Given the description of an element on the screen output the (x, y) to click on. 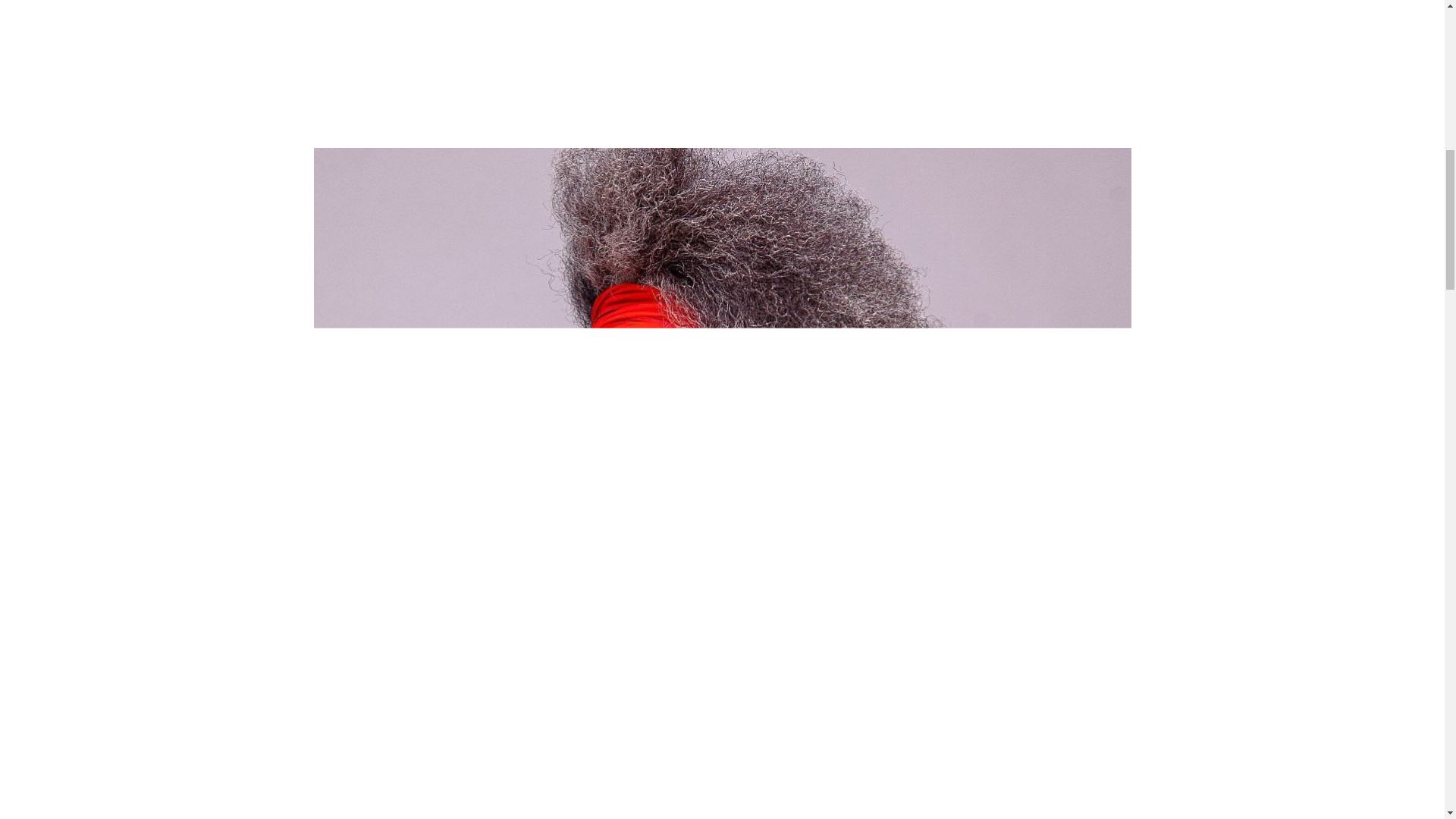
Advertisement (722, 796)
Advertisement (722, 62)
